Given the description of an element on the screen output the (x, y) to click on. 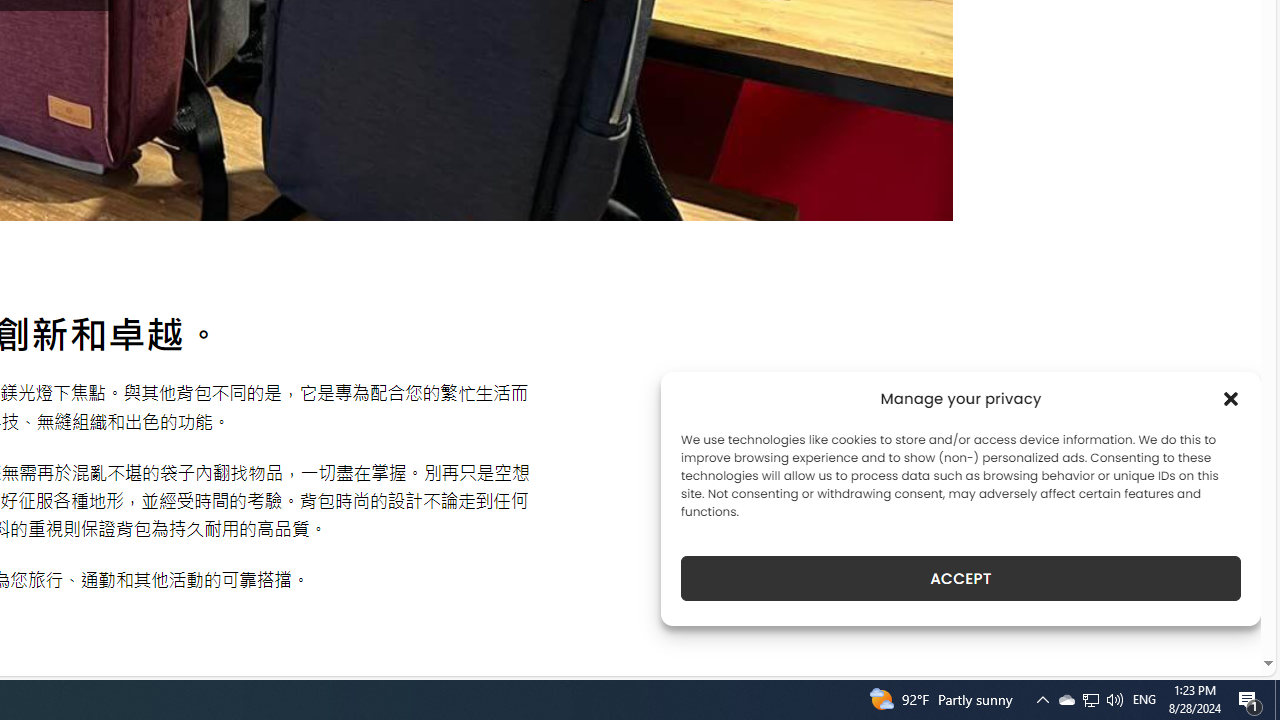
Class: cmplz-close (1231, 398)
ACCEPT (960, 578)
